Given the description of an element on the screen output the (x, y) to click on. 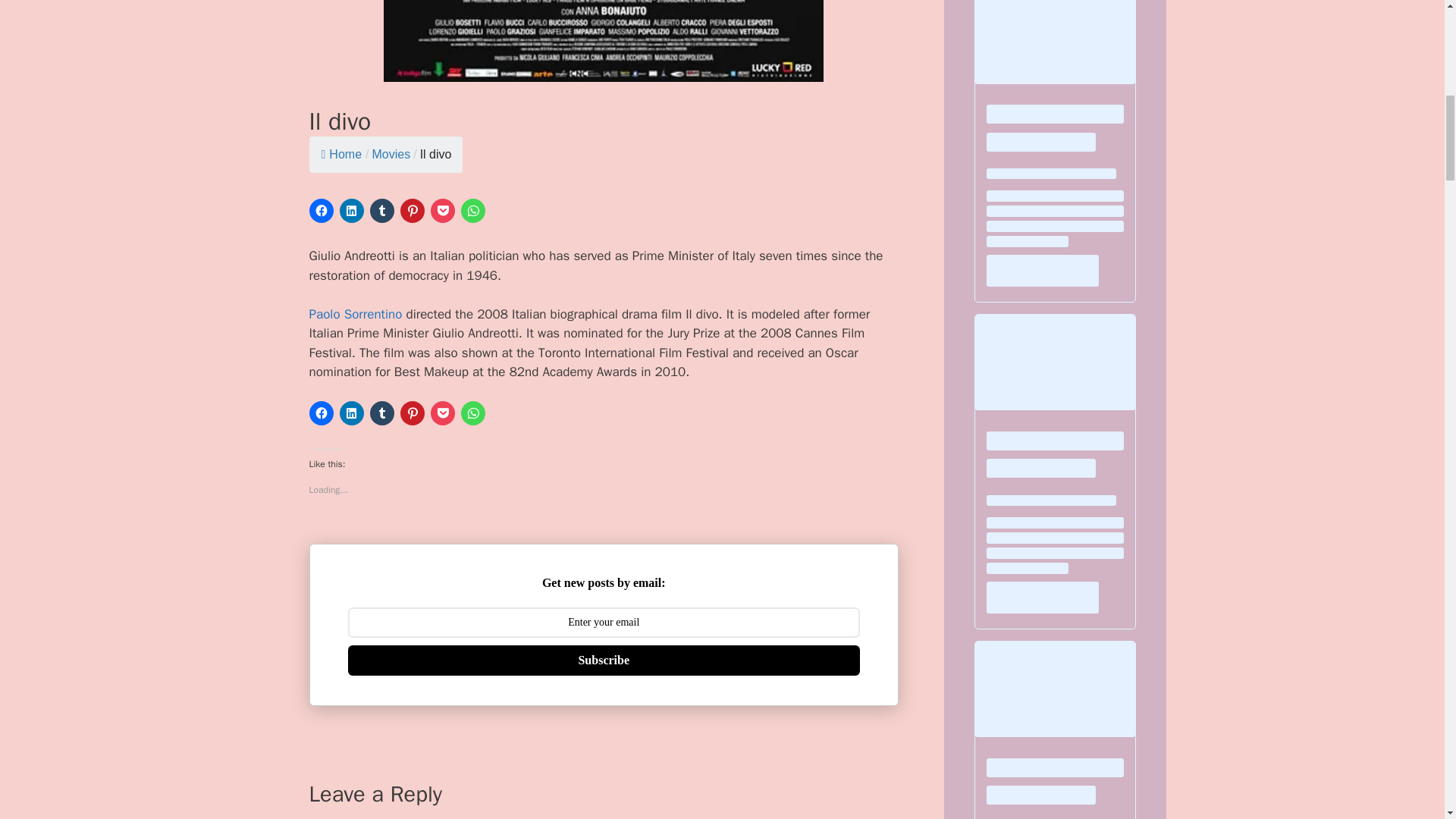
Click to share on Tumblr (381, 210)
Il divo (435, 154)
Click to share on Facebook (320, 413)
Click to share on Pinterest (412, 210)
Click to share on WhatsApp (472, 210)
Click to share on LinkedIn (351, 413)
Movies (390, 154)
Click to share on Pocket (442, 210)
Click to share on Facebook (320, 210)
Click to share on LinkedIn (351, 210)
